Given the description of an element on the screen output the (x, y) to click on. 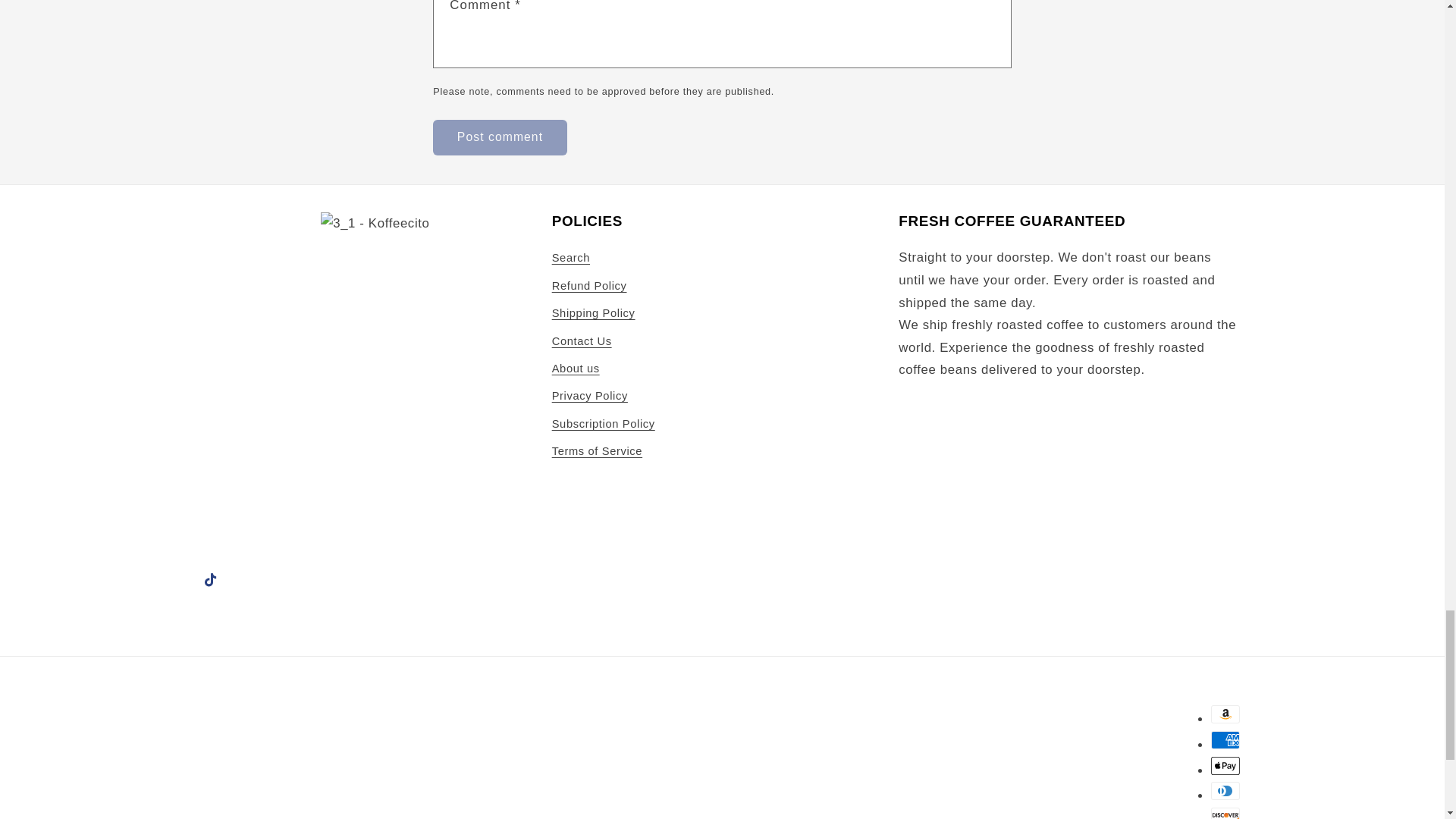
Post comment (499, 137)
Search (570, 259)
Contact Us (581, 340)
Amazon (1225, 714)
Shipping Policy (592, 313)
American Express (1225, 740)
Refund Policy (589, 286)
Post comment (499, 137)
Discover (1225, 813)
Diners Club (1225, 791)
